Given the description of an element on the screen output the (x, y) to click on. 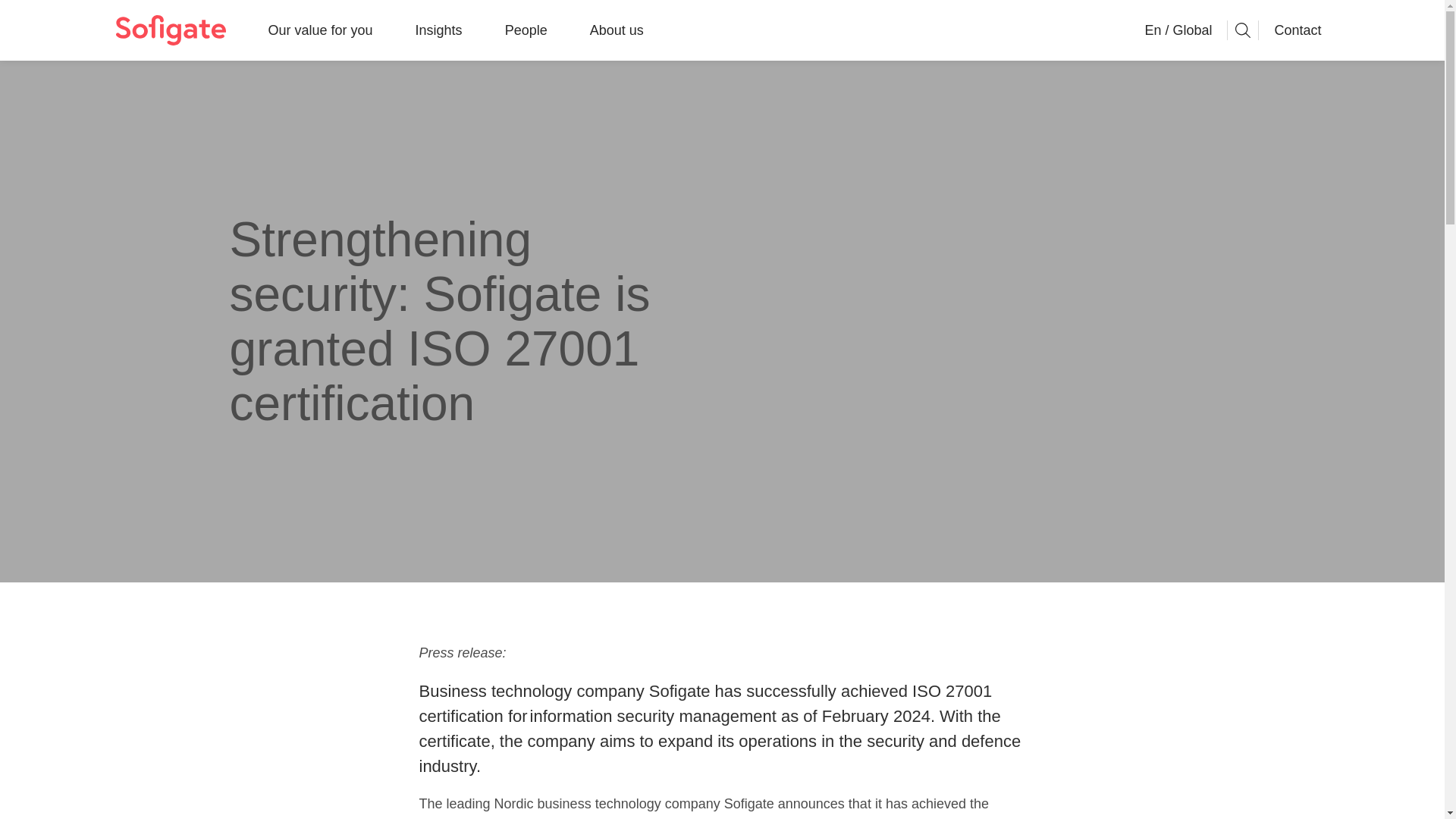
People (526, 29)
Insights (438, 29)
About us (616, 29)
Our value for you (319, 29)
Sofigate (170, 30)
Contact (1297, 29)
